Given the description of an element on the screen output the (x, y) to click on. 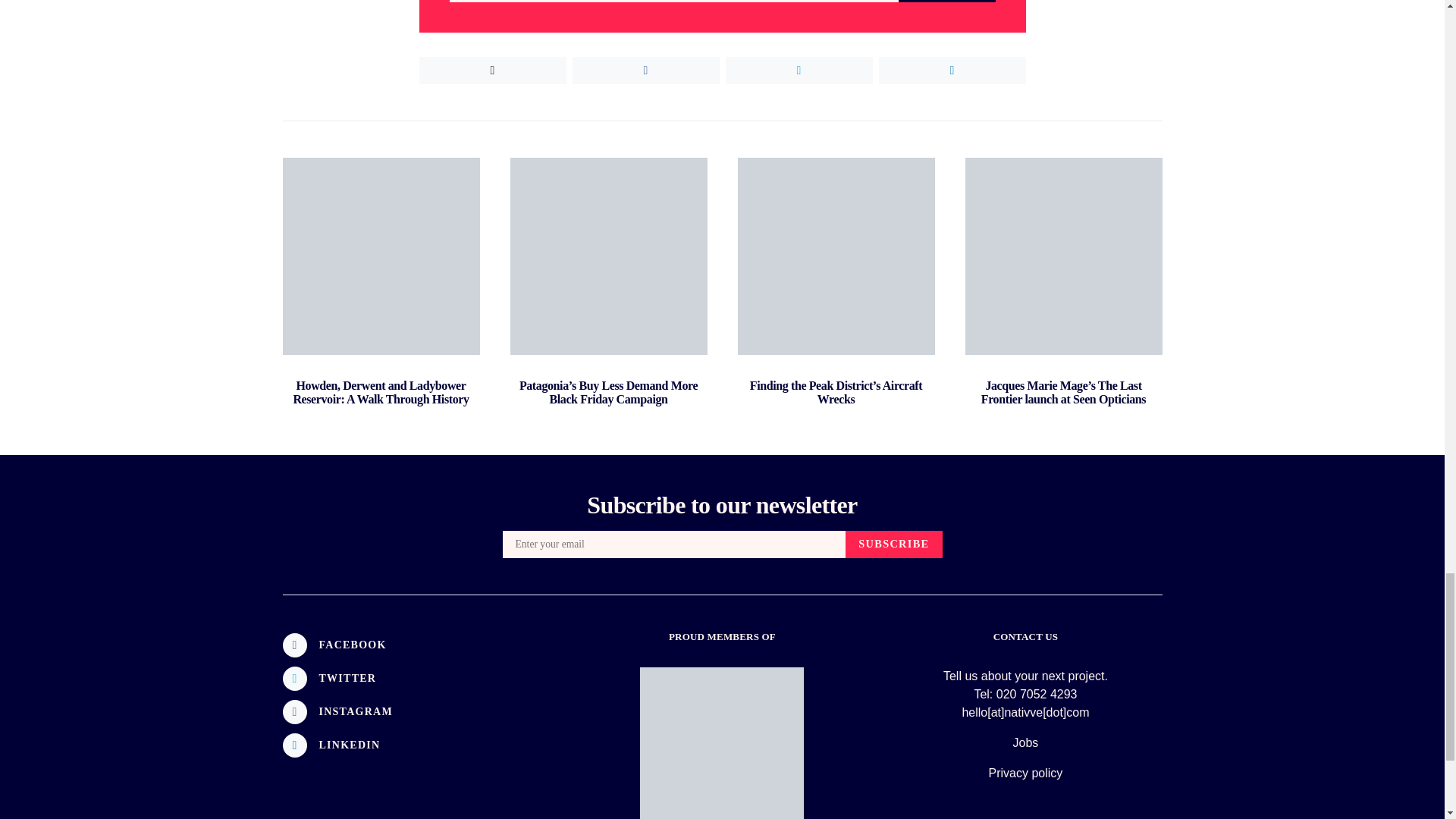
Proud member of (721, 743)
SUBSCRIBE (946, 1)
